Given the description of an element on the screen output the (x, y) to click on. 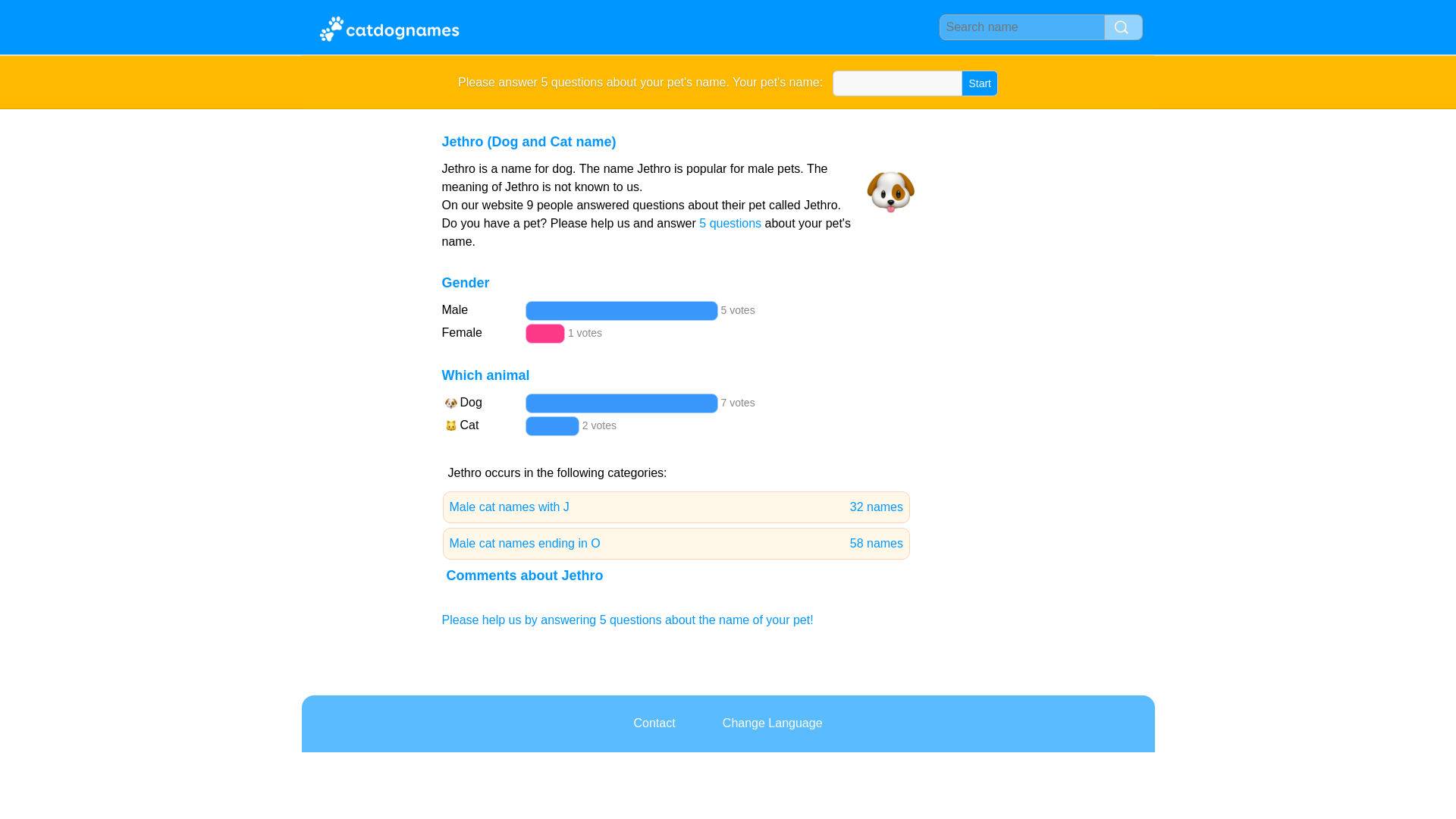
Change Language (772, 722)
Start (676, 543)
Contact (676, 507)
Start (979, 83)
5 questions (653, 722)
